Given the description of an element on the screen output the (x, y) to click on. 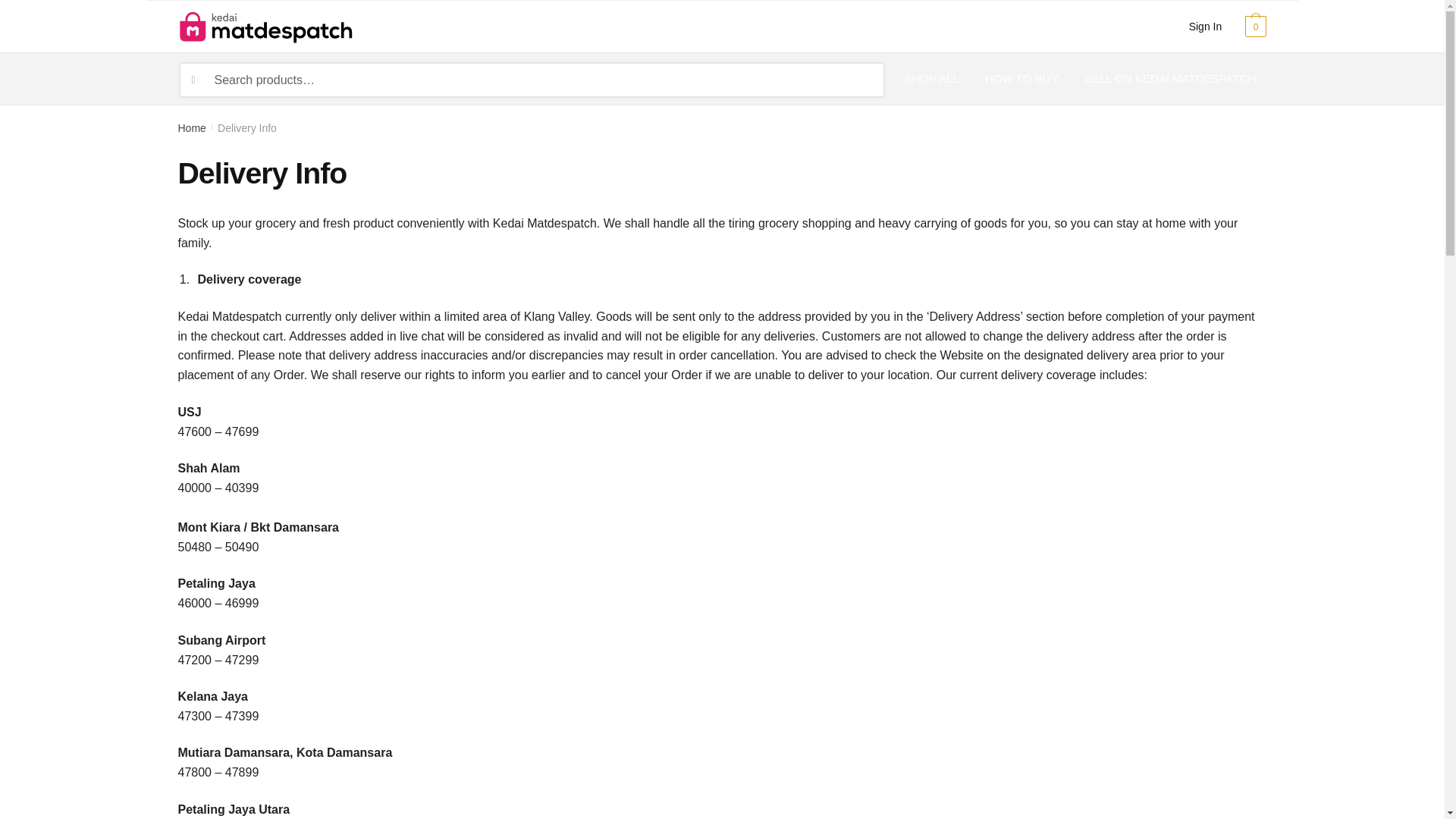
Skip to navigation (48, 9)
Search (846, 80)
Home (191, 128)
HOW TO BUY (1021, 78)
SHOP ALL (938, 78)
Skip to content (40, 9)
Sign In (1204, 27)
SELL ON KEDAI MATDESPATCH (1169, 78)
